Given the description of an element on the screen output the (x, y) to click on. 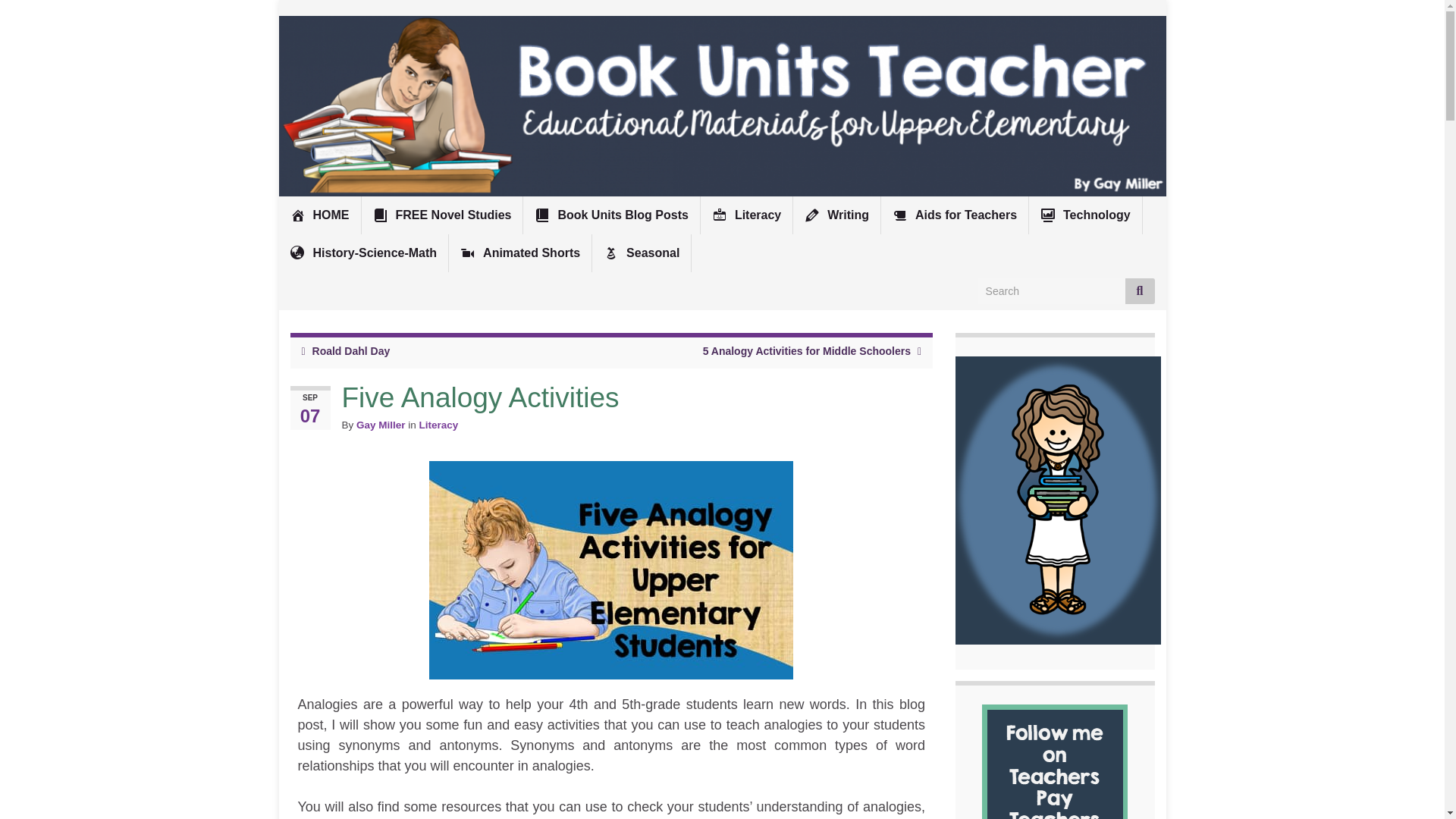
Book Units Blog Posts (610, 215)
5 Analogy Activities for Middle Schoolers (807, 350)
Roald Dahl Day (351, 350)
FREE Novel Studies (441, 215)
Technology (1085, 215)
Seasonal (641, 252)
Literacy (746, 215)
History-Science-Math (363, 252)
HOME (320, 215)
